Given the description of an element on the screen output the (x, y) to click on. 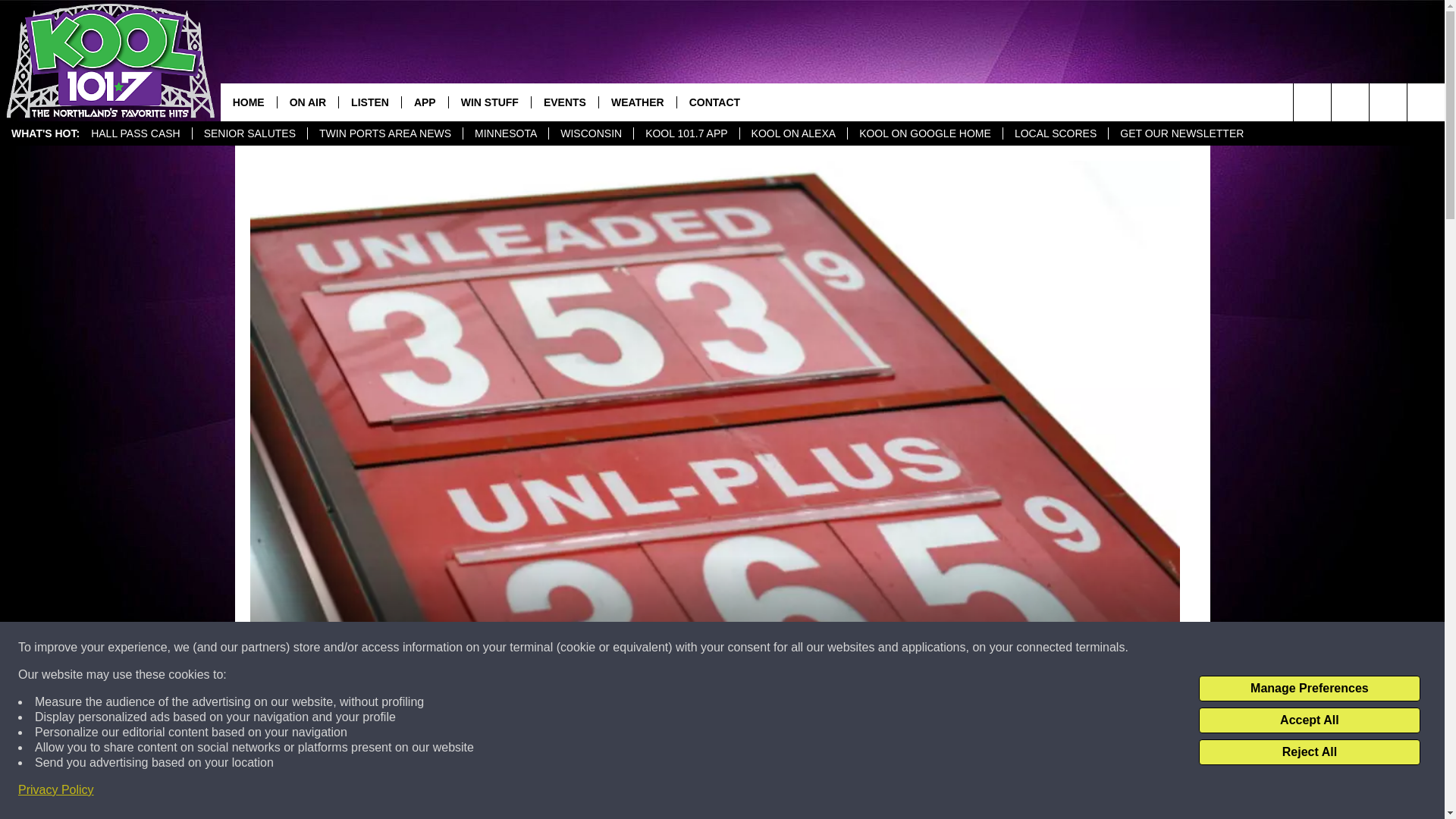
KOOL ON GOOGLE HOME (925, 133)
Reject All (1309, 751)
WISCONSIN (590, 133)
Privacy Policy (55, 789)
TWIN PORTS AREA NEWS (385, 133)
KOOL 101.7 APP (685, 133)
HOME (248, 102)
WIN STUFF (489, 102)
Manage Preferences (1309, 688)
MINNESOTA (505, 133)
SENIOR SALUTES (249, 133)
ON AIR (306, 102)
Share on Twitter (912, 791)
LISTEN (369, 102)
Share on Facebook (517, 791)
